Given the description of an element on the screen output the (x, y) to click on. 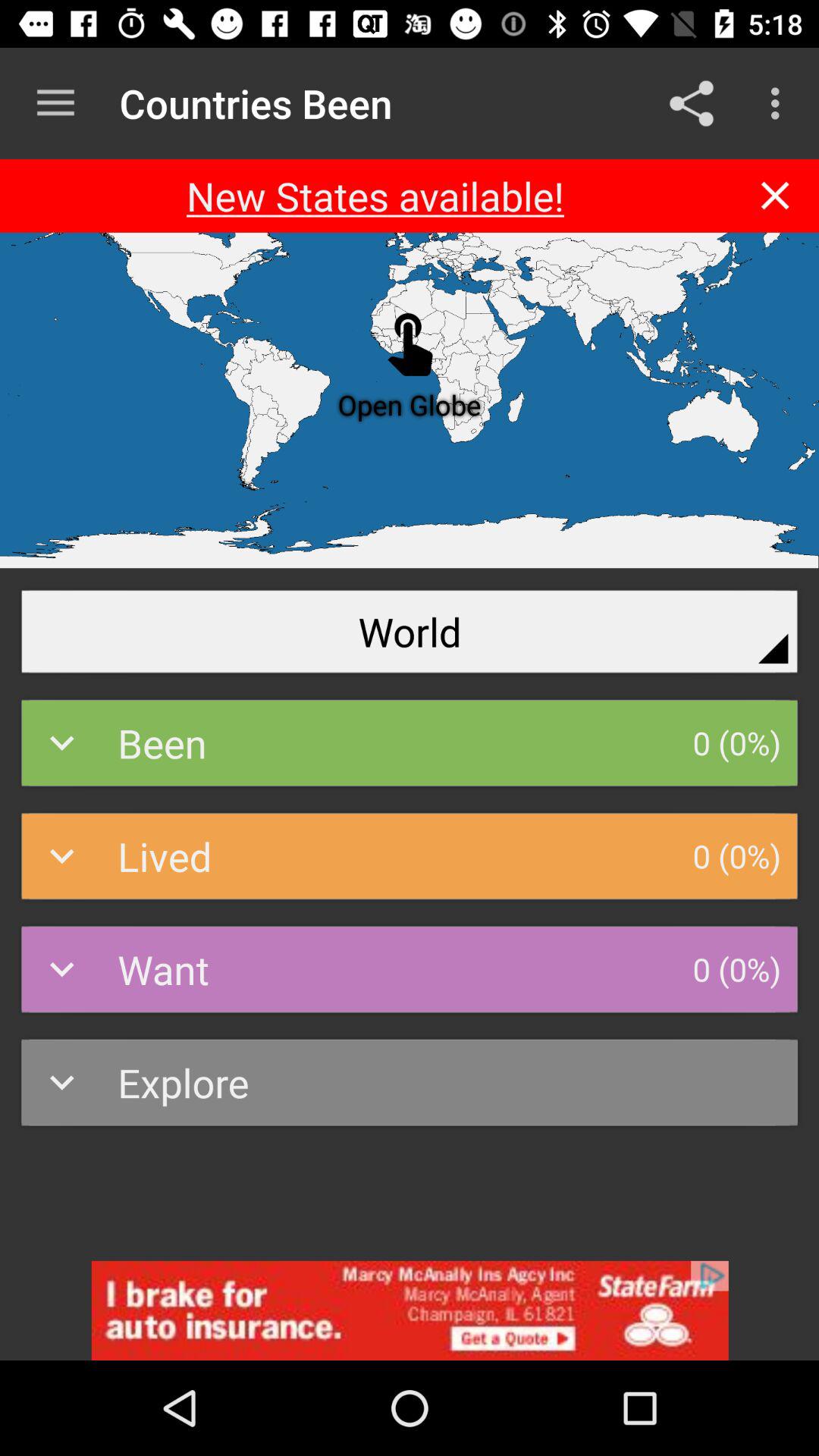
advertisement page (409, 1310)
